Given the description of an element on the screen output the (x, y) to click on. 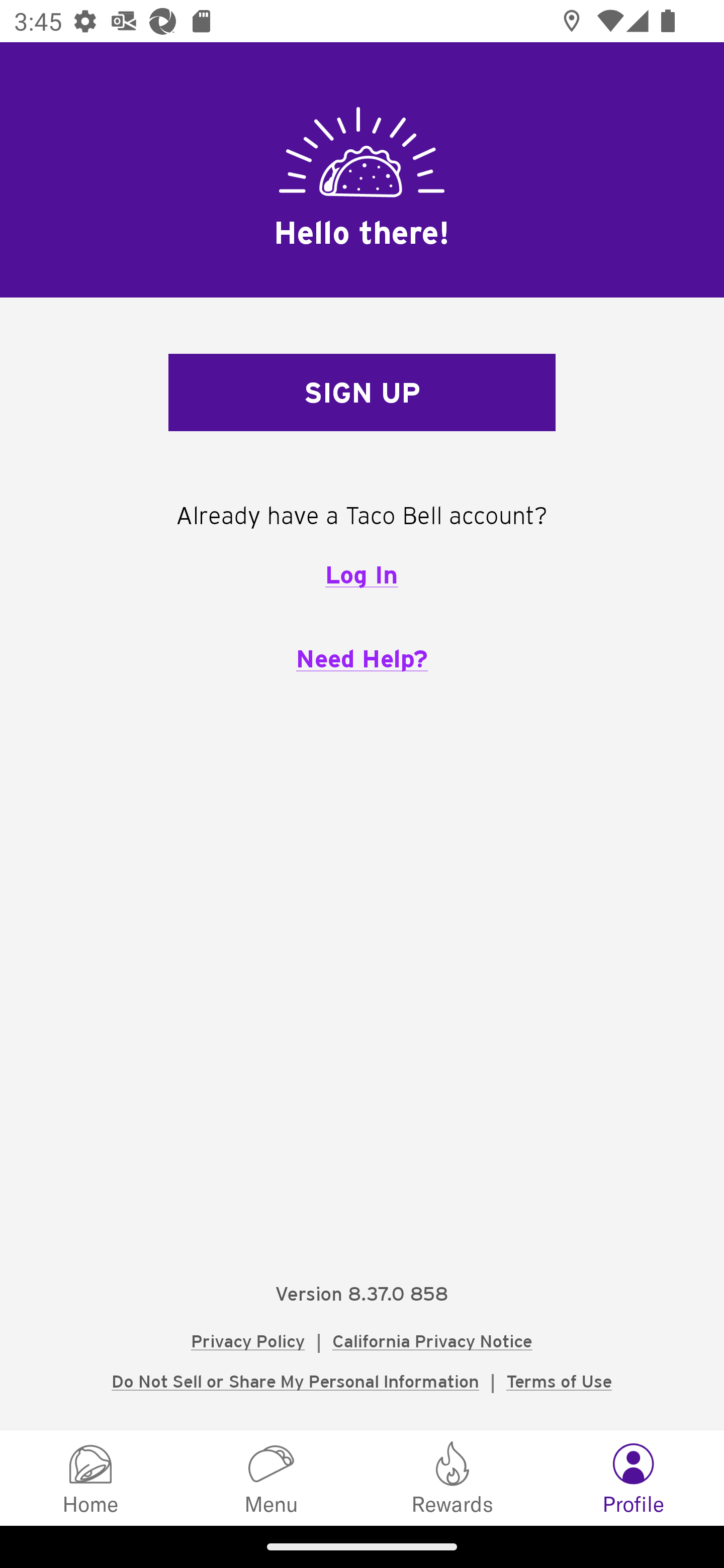
SIGN UP (361, 392)
Log In (361, 574)
Need Help? (361, 658)
Privacy Policy (248, 1341)
California Privacy Notice (432, 1341)
Do Not Sell or Share My Personal Information (295, 1381)
Terms of Use (558, 1381)
Home (90, 1476)
Menu (271, 1476)
Rewards (452, 1476)
My Info Profile (633, 1476)
